Given the description of an element on the screen output the (x, y) to click on. 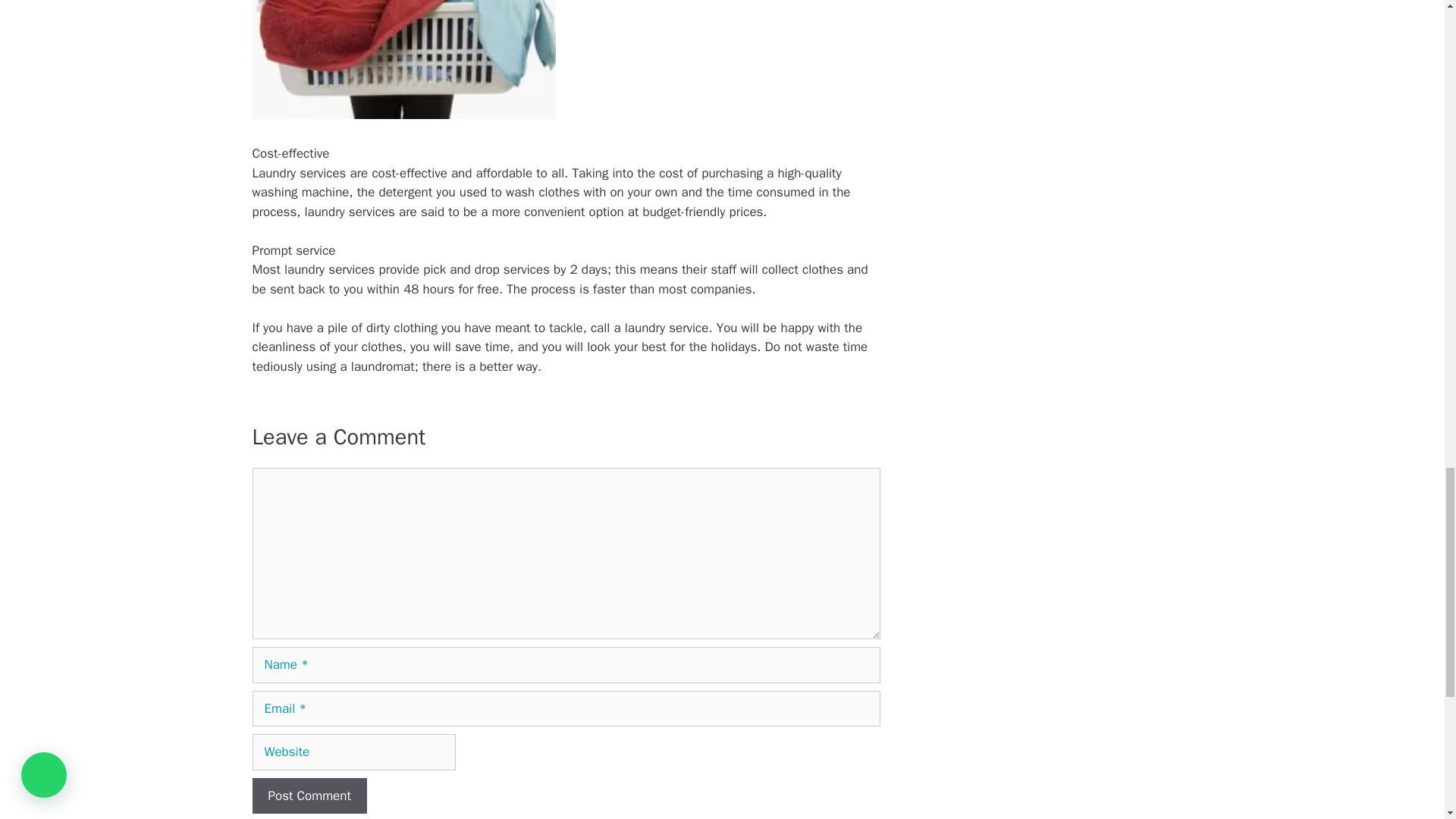
Post Comment (308, 796)
Post Comment (308, 796)
